Given the description of an element on the screen output the (x, y) to click on. 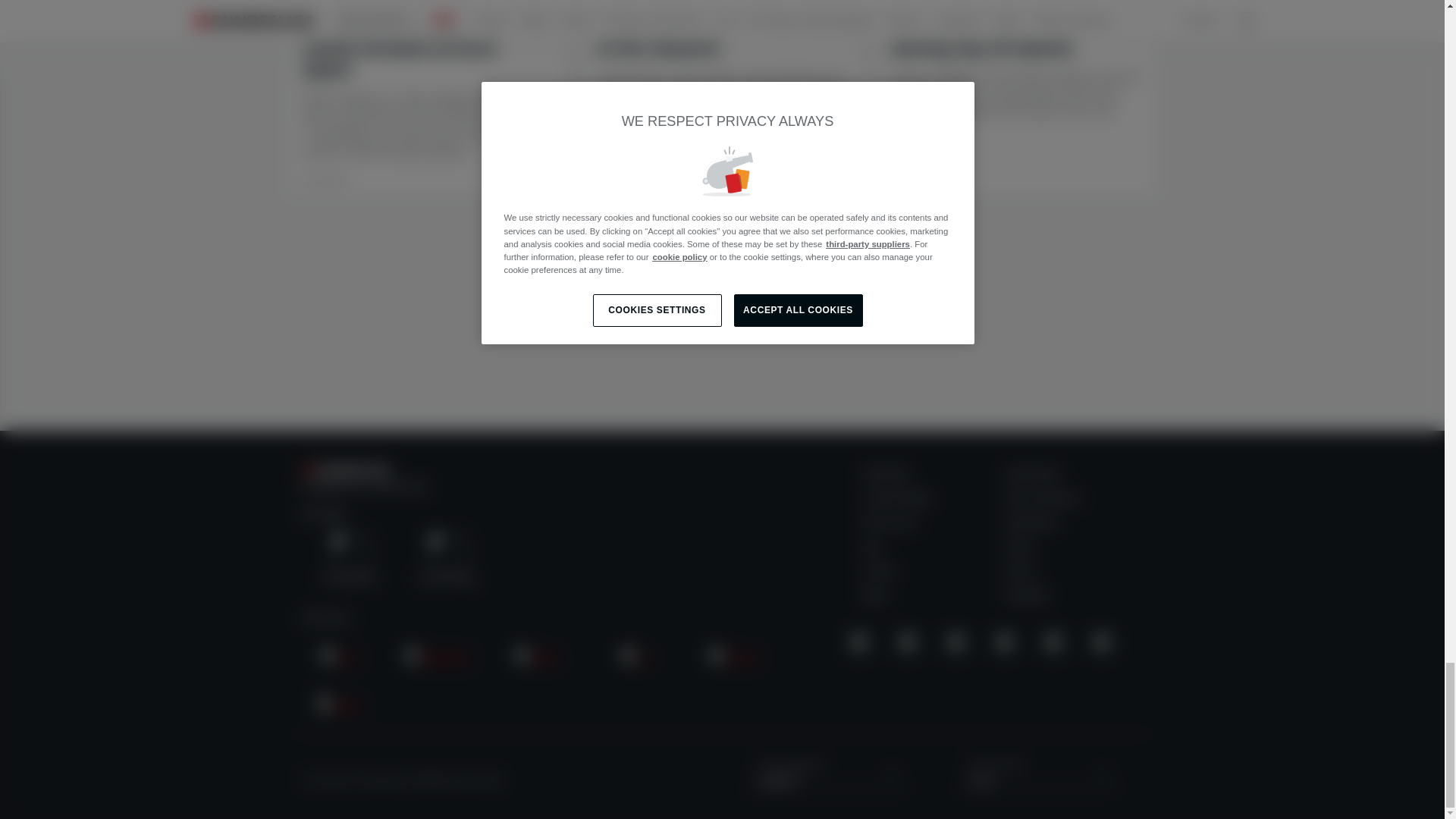
Terms of Use (890, 521)
Cookie settings (897, 498)
sorare (732, 658)
Advertising (885, 473)
ea (634, 658)
topps (338, 706)
derbystar (437, 658)
Legal Notices (1033, 473)
milka (536, 658)
Privacy Statement (1042, 498)
aws (338, 658)
